Given the description of an element on the screen output the (x, y) to click on. 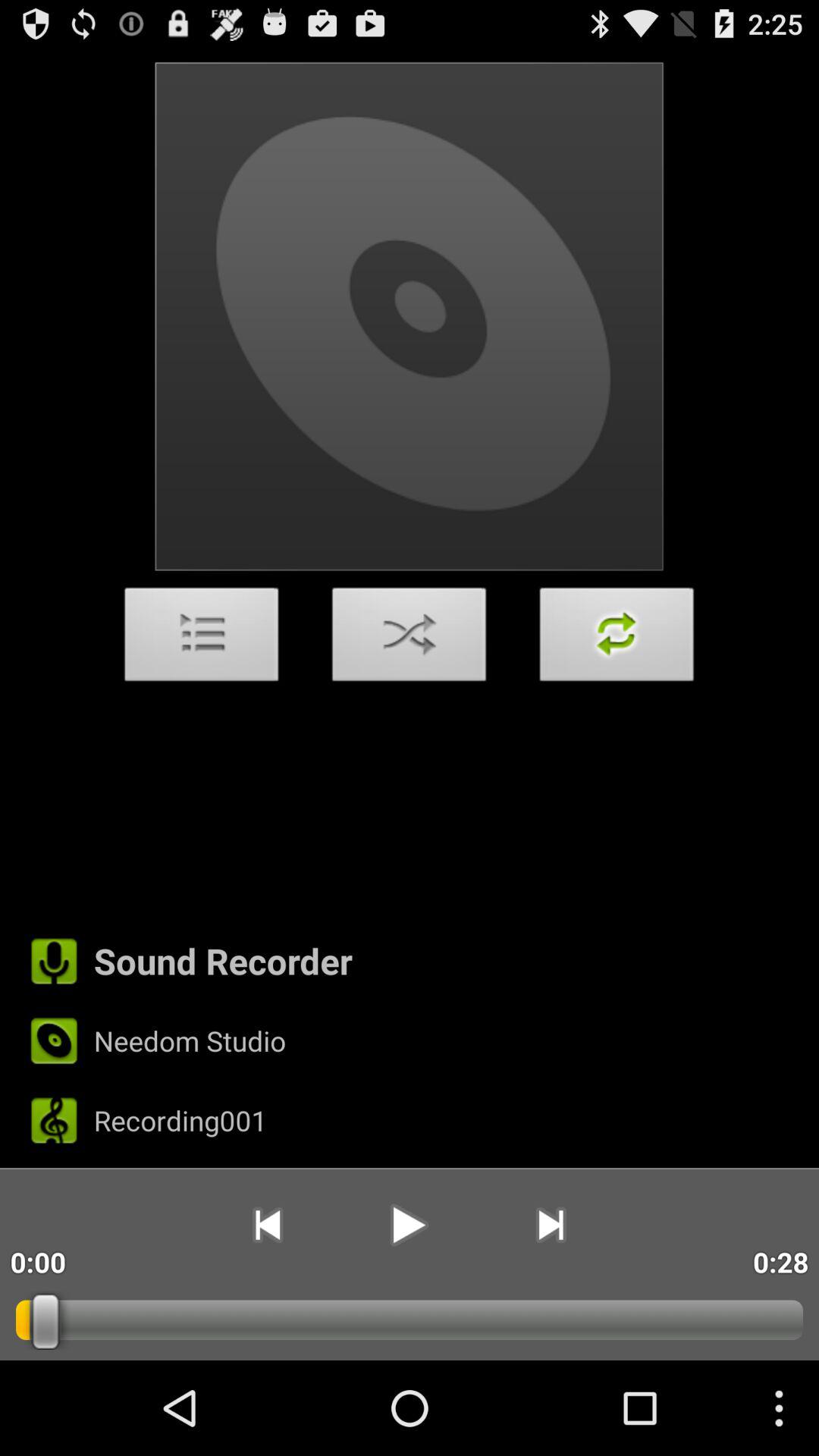
tap item next to the 0:28 icon (550, 1224)
